Given the description of an element on the screen output the (x, y) to click on. 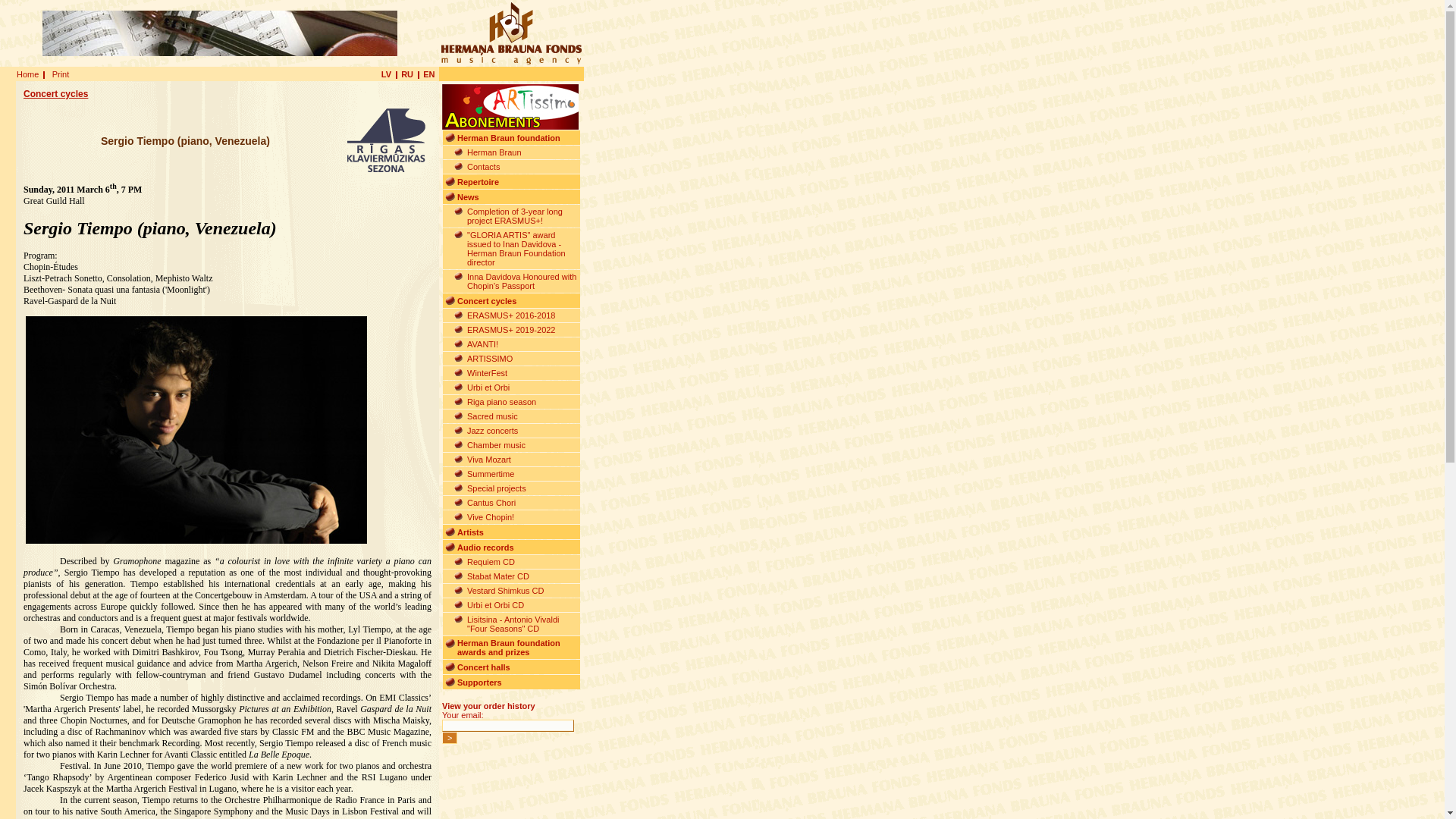
Artists (470, 532)
Herman Braun foundation (508, 137)
WinterFest (486, 372)
Audio records (485, 547)
Herman Braun (494, 152)
RU (407, 73)
Summertime (490, 473)
Concert cycles (55, 93)
Urbi et Orbi (488, 387)
Concert cycles (486, 299)
Home (27, 73)
ARTISSIMO (489, 358)
Requiem CD (491, 561)
AVANTI! (482, 343)
Viva Mozart (489, 459)
